Given the description of an element on the screen output the (x, y) to click on. 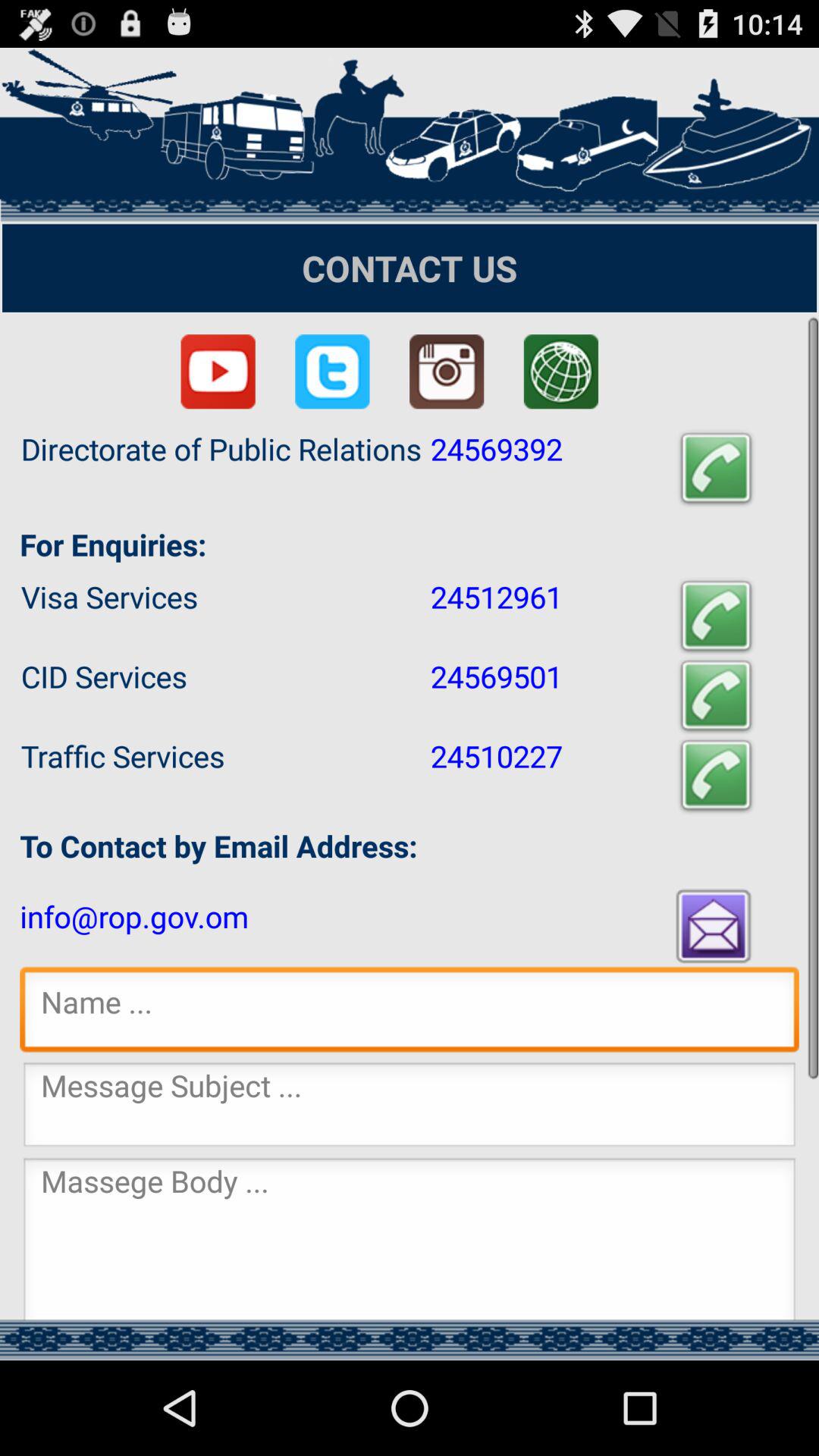
click browser (560, 371)
